Given the description of an element on the screen output the (x, y) to click on. 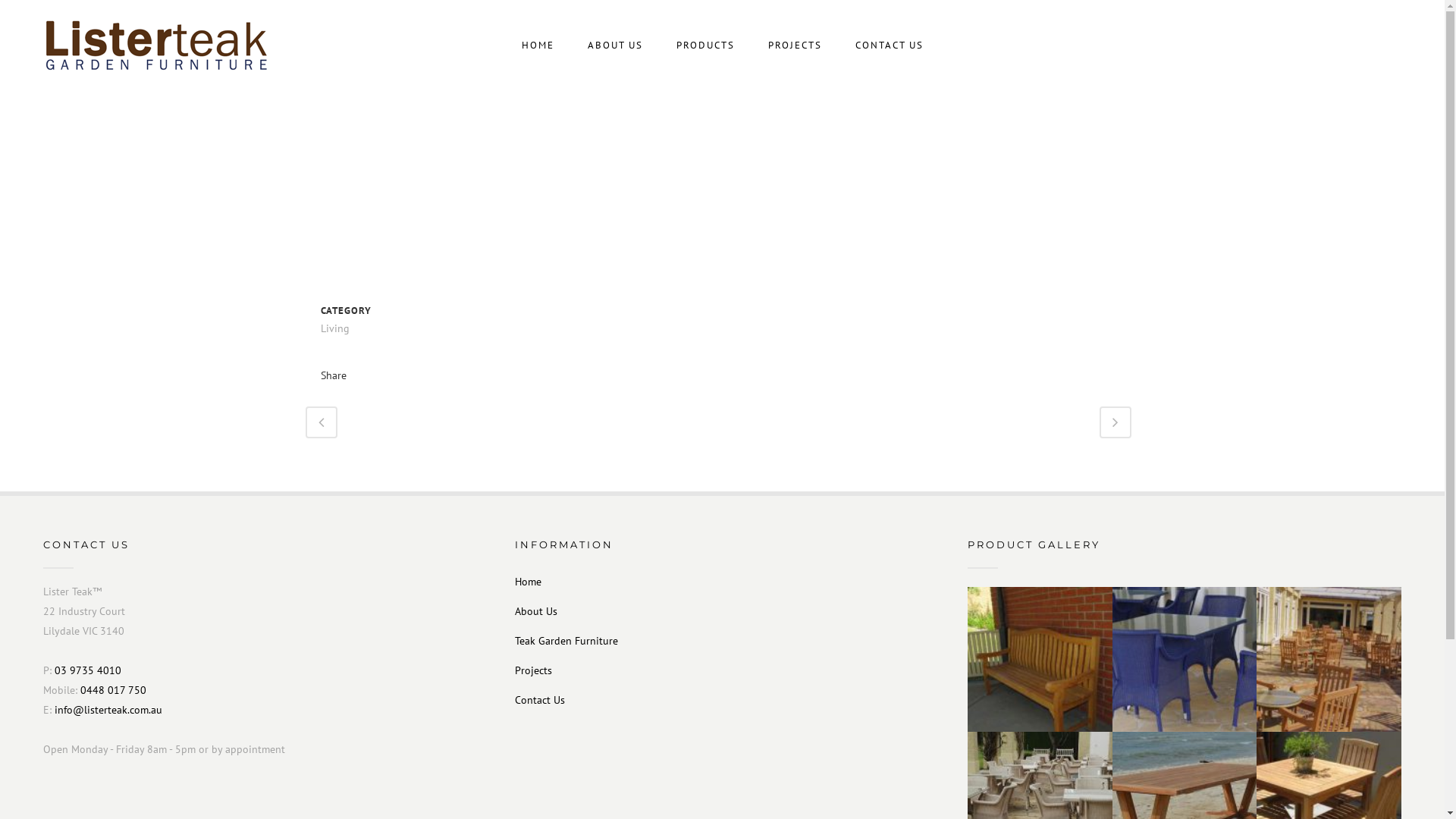
HOME Element type: text (538, 45)
PRODUCTS Element type: text (705, 45)
Projects Element type: text (729, 670)
PROJECTS Element type: text (793, 45)
03 9735 4010 Element type: text (87, 670)
CONTACT US Element type: text (889, 45)
About Us Element type: text (729, 610)
Contact Us Element type: text (729, 699)
info@listerteak.com.au Element type: text (108, 709)
0448 017 750 Element type: text (113, 689)
Home Element type: text (729, 581)
Teak Garden Furniture Element type: text (729, 640)
ABOUT US Element type: text (614, 45)
Share Element type: text (332, 375)
